Given the description of an element on the screen output the (x, y) to click on. 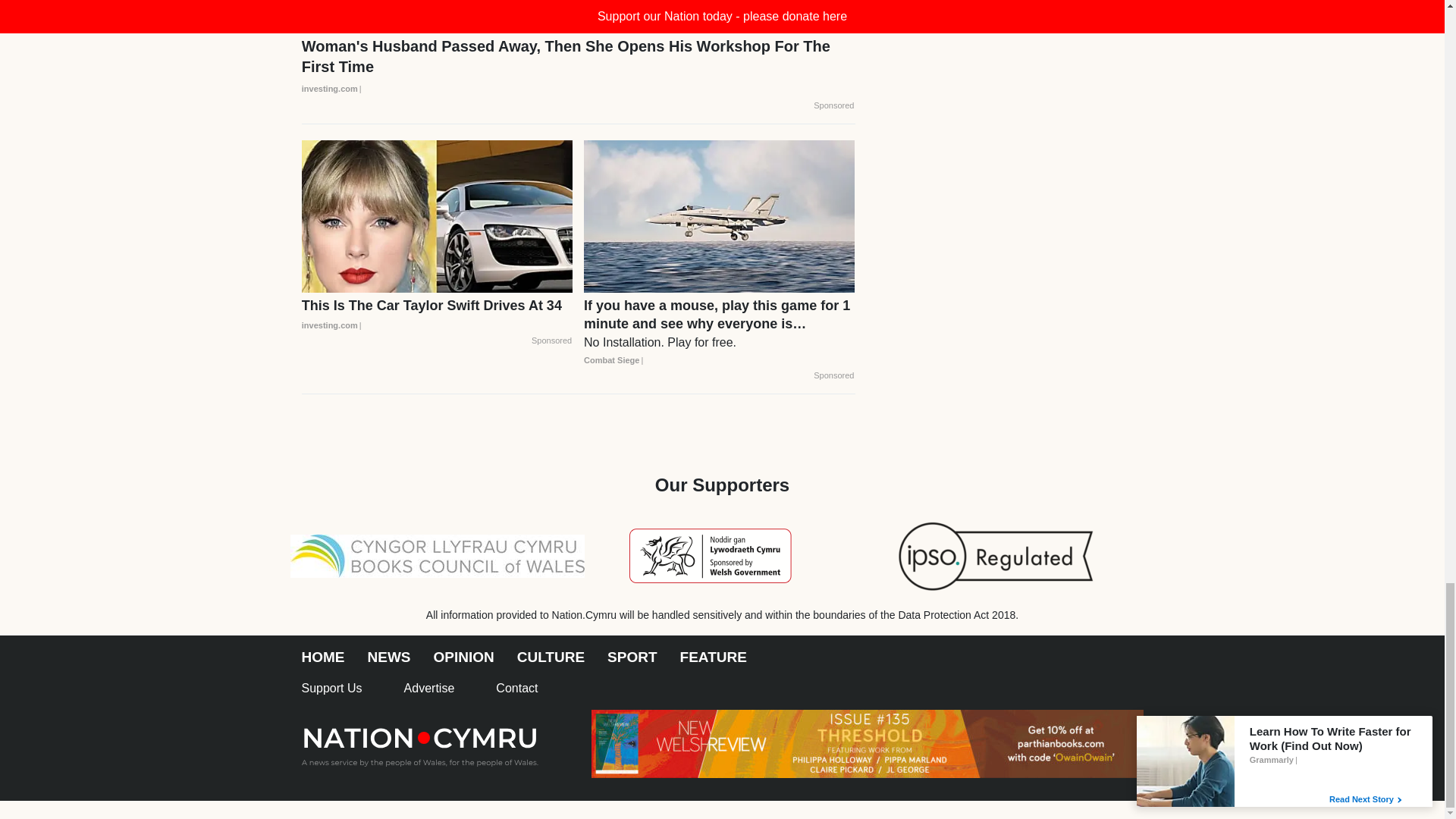
This Is The Car Taylor Swift Drives At 34 (436, 315)
